Given the description of an element on the screen output the (x, y) to click on. 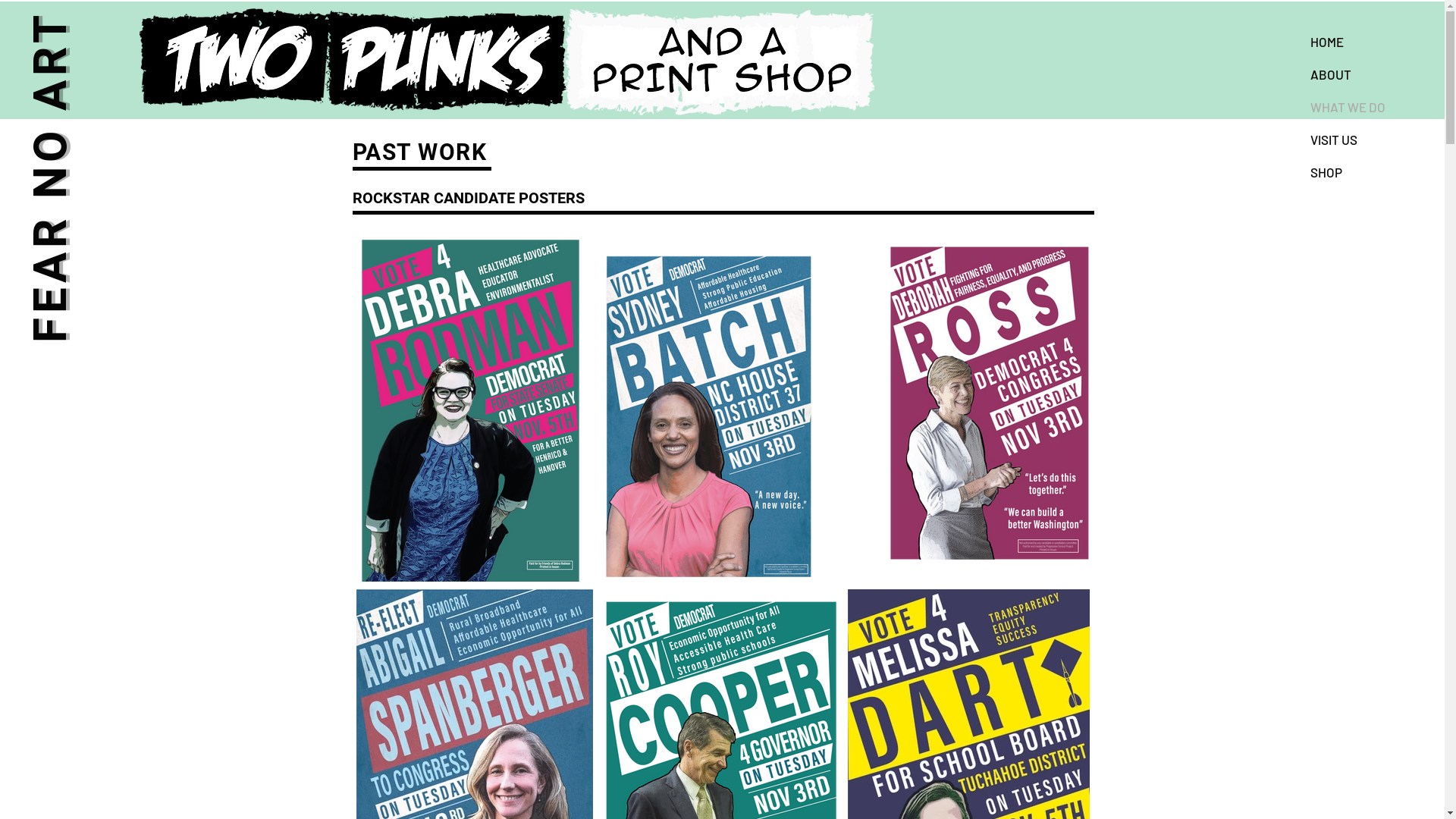
SHOP Element type: text (1370, 172)
VISIT US Element type: text (1370, 139)
ABOUT Element type: text (1370, 74)
FEAR NO ART Element type: text (188, 37)
HOME Element type: text (1370, 41)
WHAT WE DO Element type: text (1370, 107)
